Given the description of an element on the screen output the (x, y) to click on. 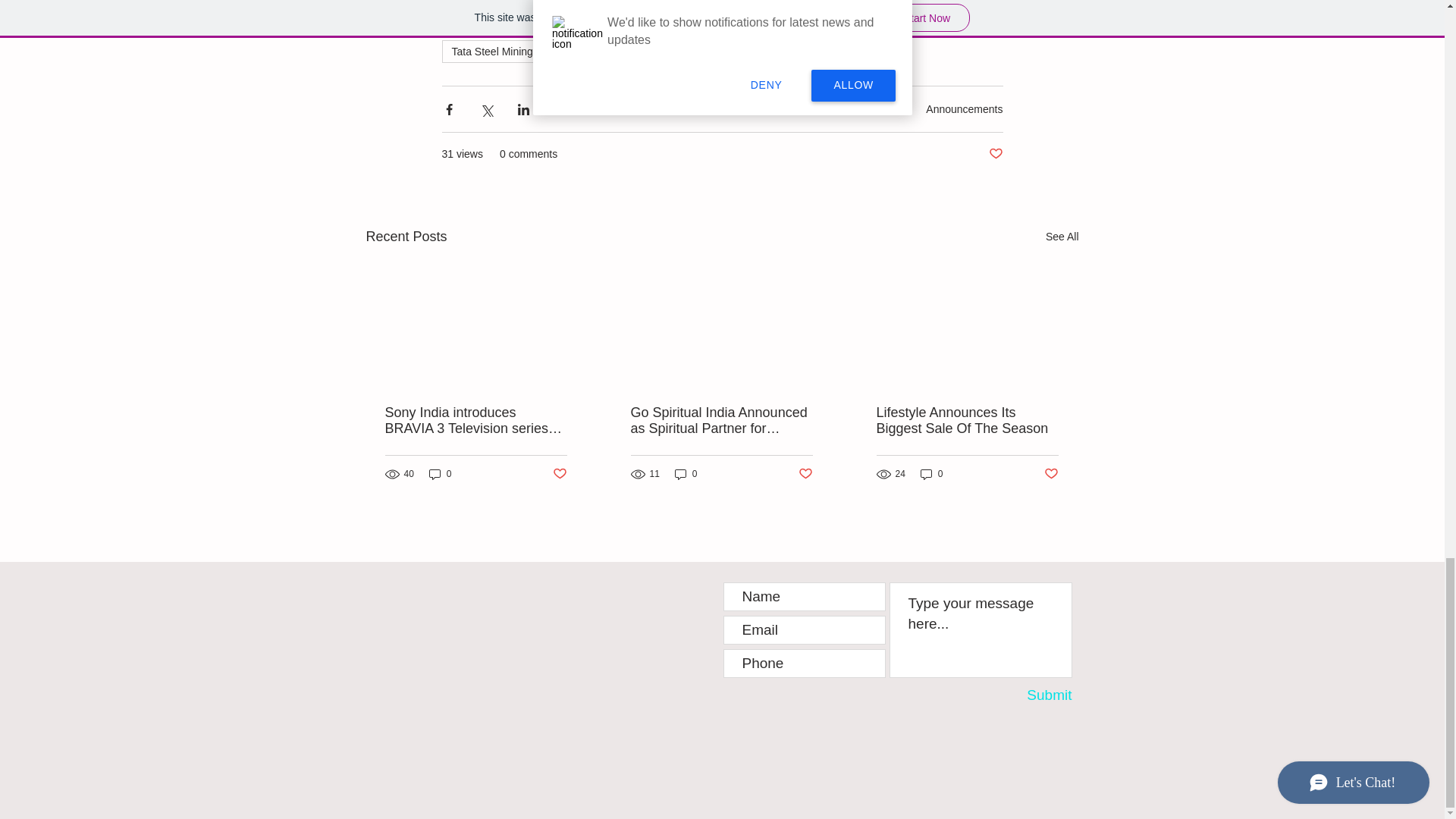
Post not marked as liked (558, 473)
Announcements (964, 109)
0 (931, 473)
0 (685, 473)
Post not marked as liked (1050, 473)
Post not marked as liked (804, 473)
Submit (1029, 695)
See All (1061, 237)
0 (440, 473)
Lifestyle Announces Its Biggest Sale Of The Season (967, 420)
Post not marked as liked (995, 154)
